Given the description of an element on the screen output the (x, y) to click on. 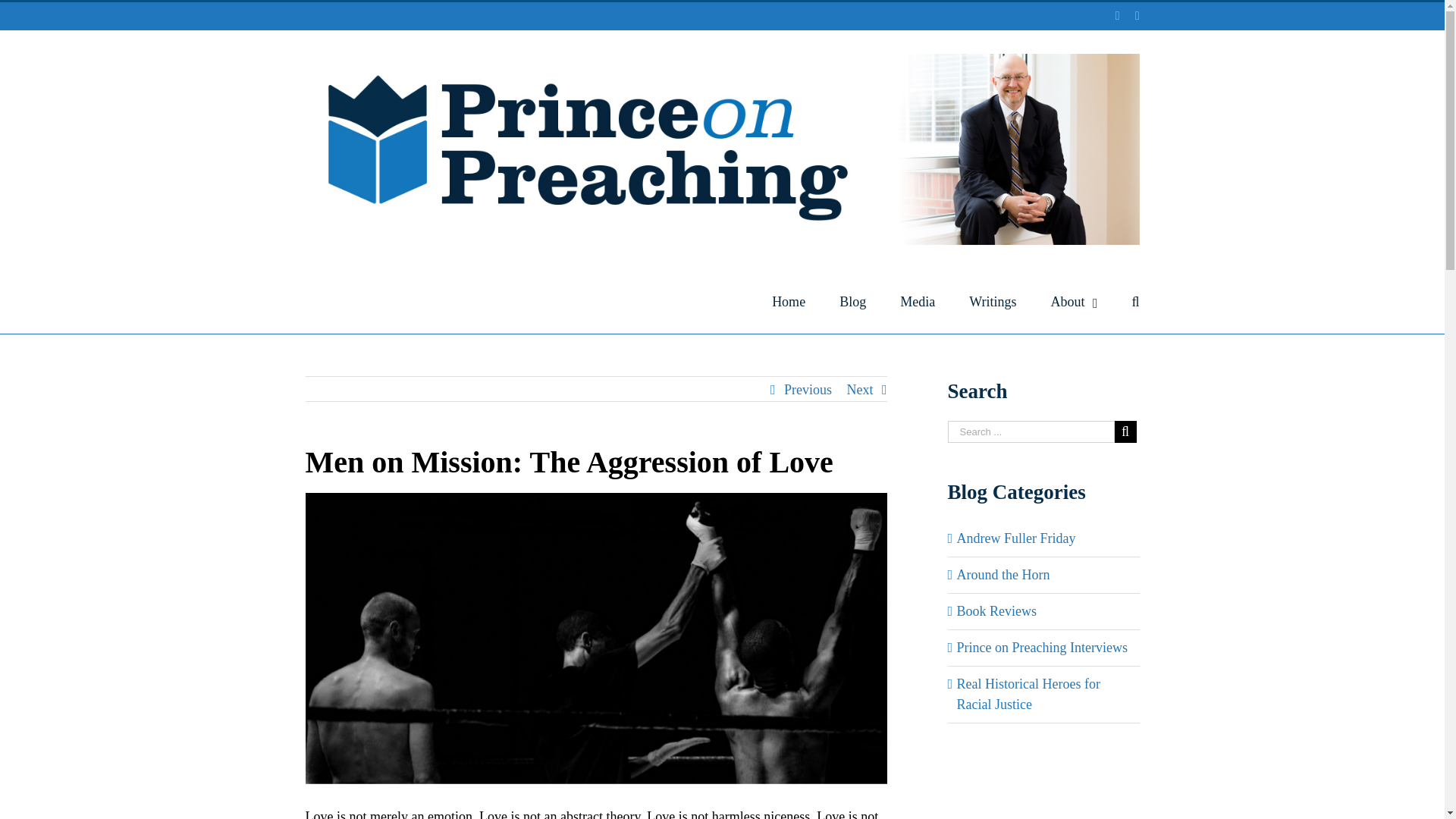
Twitter (1117, 15)
Blog (853, 300)
Media (916, 300)
Writings (992, 300)
Home (788, 300)
Facebook (1137, 15)
Next (858, 389)
About (1073, 300)
Previous (807, 389)
Search (1134, 300)
